Given the description of an element on the screen output the (x, y) to click on. 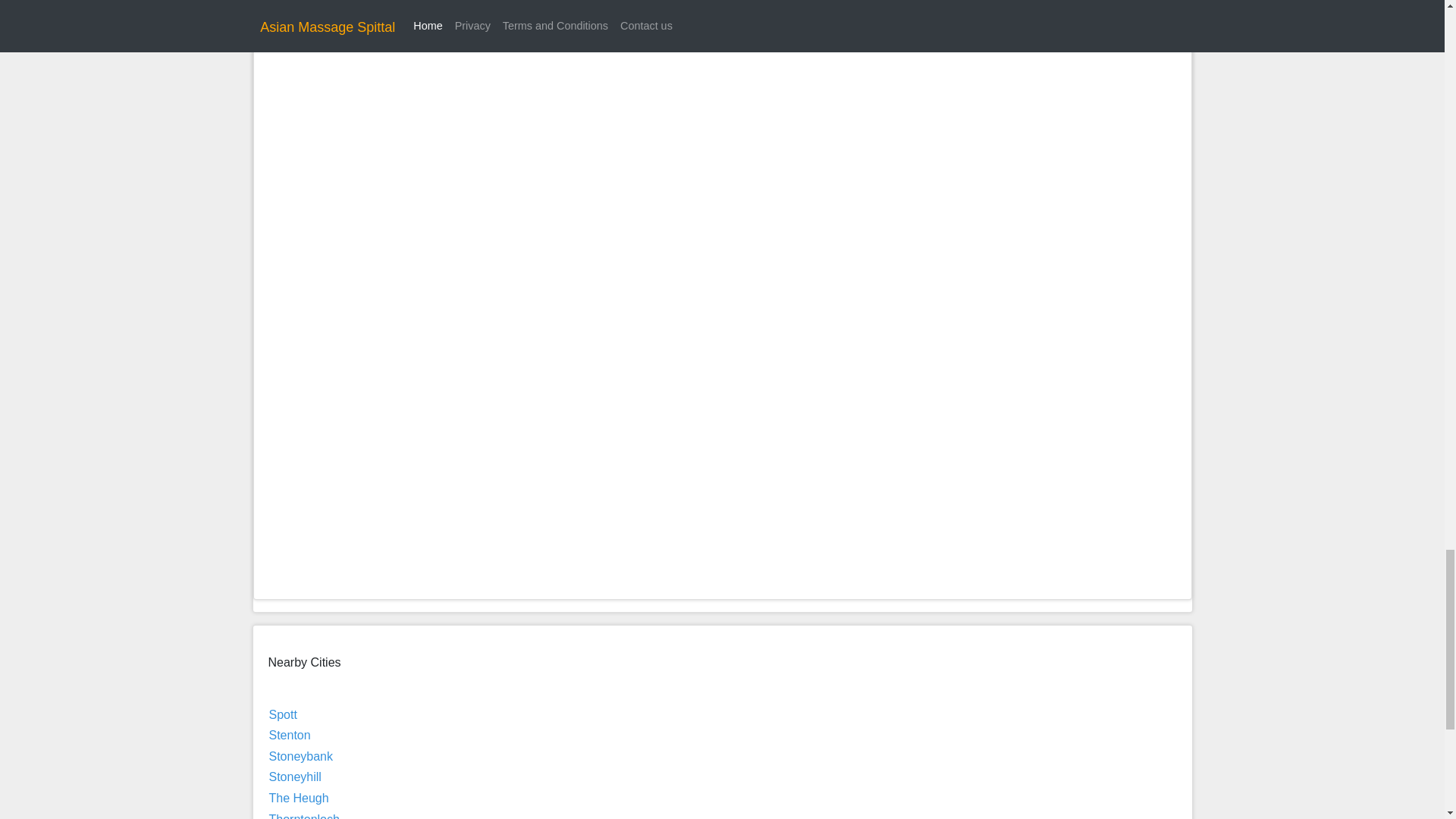
Spott (282, 714)
The Heugh (298, 797)
Stoneybank (300, 756)
Stenton (288, 735)
Thorntonloch (303, 816)
Stoneyhill (293, 776)
